Given the description of an element on the screen output the (x, y) to click on. 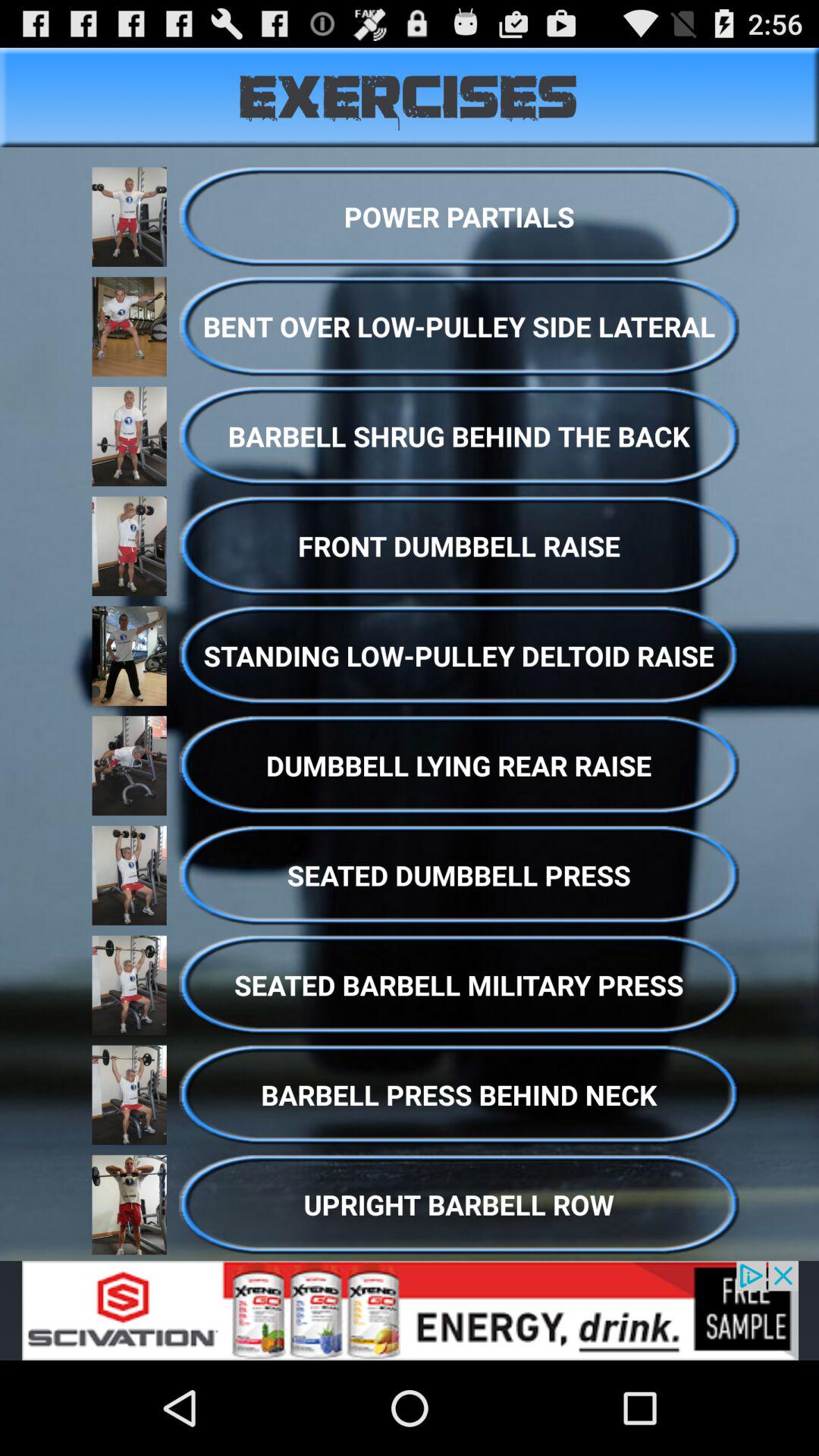
go to advertisement (409, 1310)
